Given the description of an element on the screen output the (x, y) to click on. 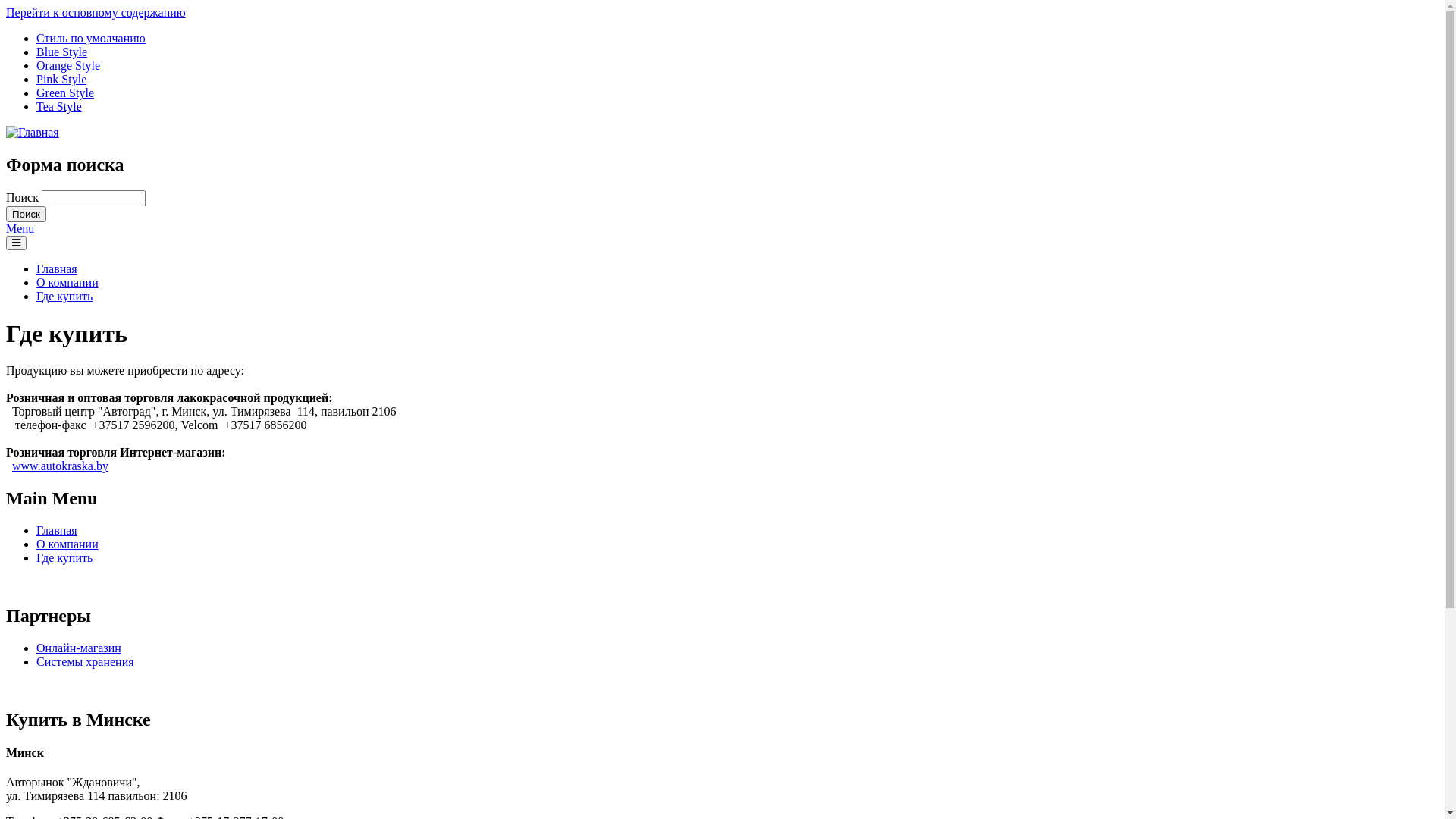
Tea Style Element type: text (58, 106)
Orange Style Element type: text (68, 65)
Green Style Element type: text (65, 92)
Blue Style Element type: text (61, 51)
www.autokraska.by Element type: text (60, 465)
Pink Style Element type: text (61, 78)
Menu Element type: text (20, 228)
